Given the description of an element on the screen output the (x, y) to click on. 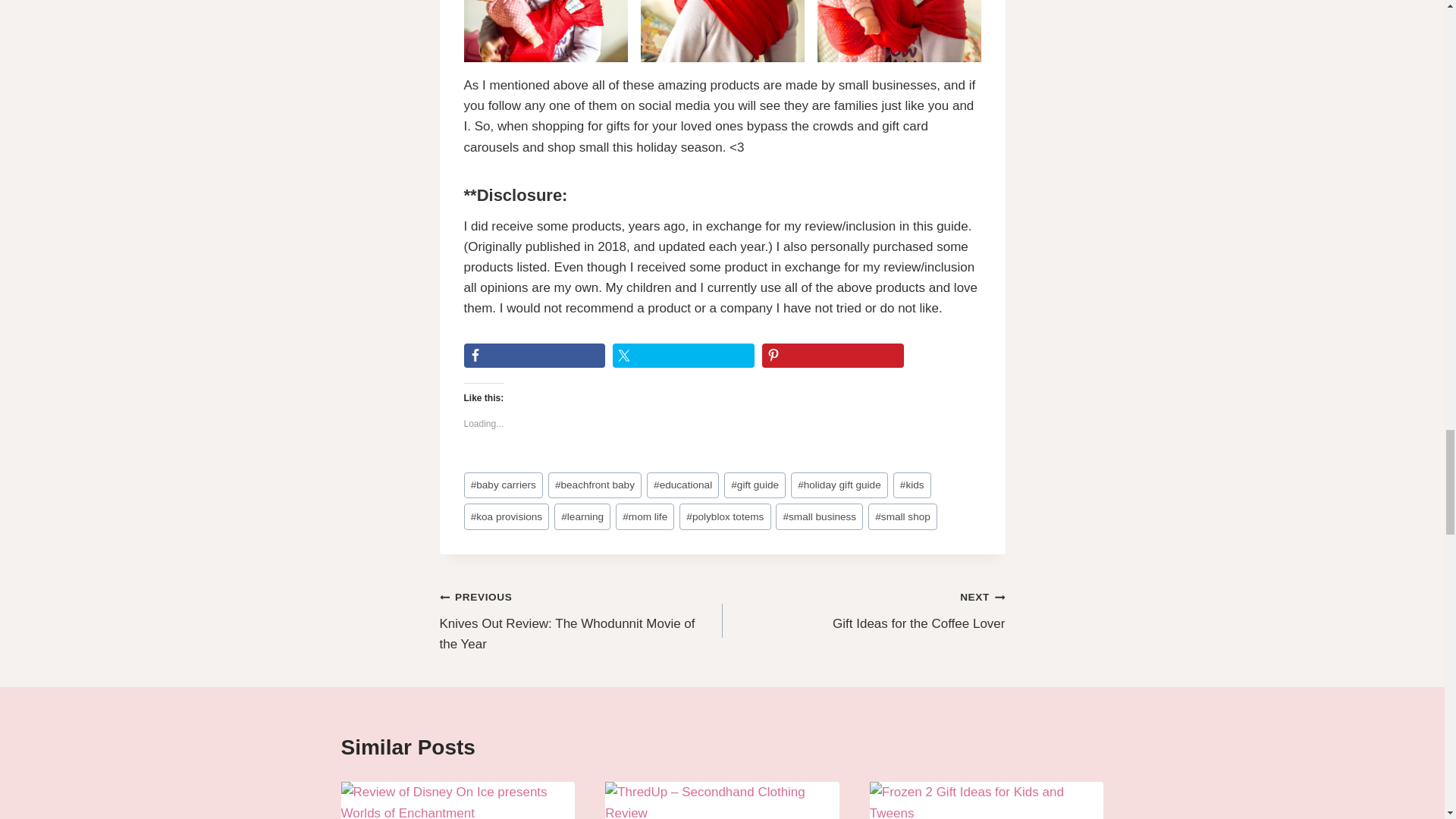
Share on Facebook (534, 355)
beachfront baby (595, 485)
educational (682, 485)
Share on Pinterest (832, 355)
kids (912, 485)
baby carriers (503, 485)
holiday gift guide (839, 485)
gift guide (754, 485)
Share on Twitter (683, 355)
